Given the description of an element on the screen output the (x, y) to click on. 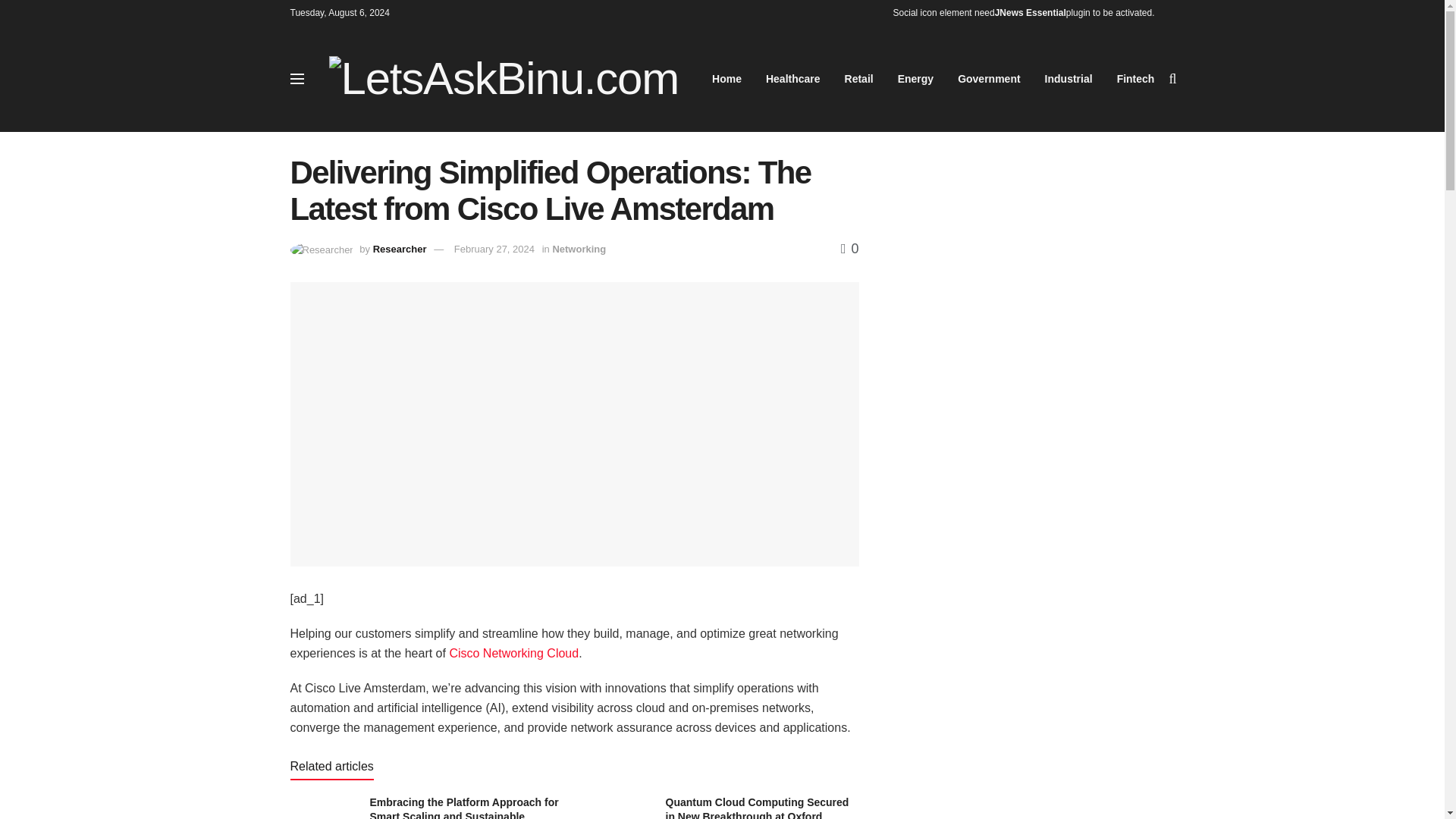
Healthcare (793, 78)
Cisco Networking Cloud (513, 653)
February 27, 2024 (494, 248)
Industrial (1068, 78)
Retail (858, 78)
Energy (914, 78)
Researcher (399, 248)
0 (850, 248)
Home (727, 78)
Government (988, 78)
